Given the description of an element on the screen output the (x, y) to click on. 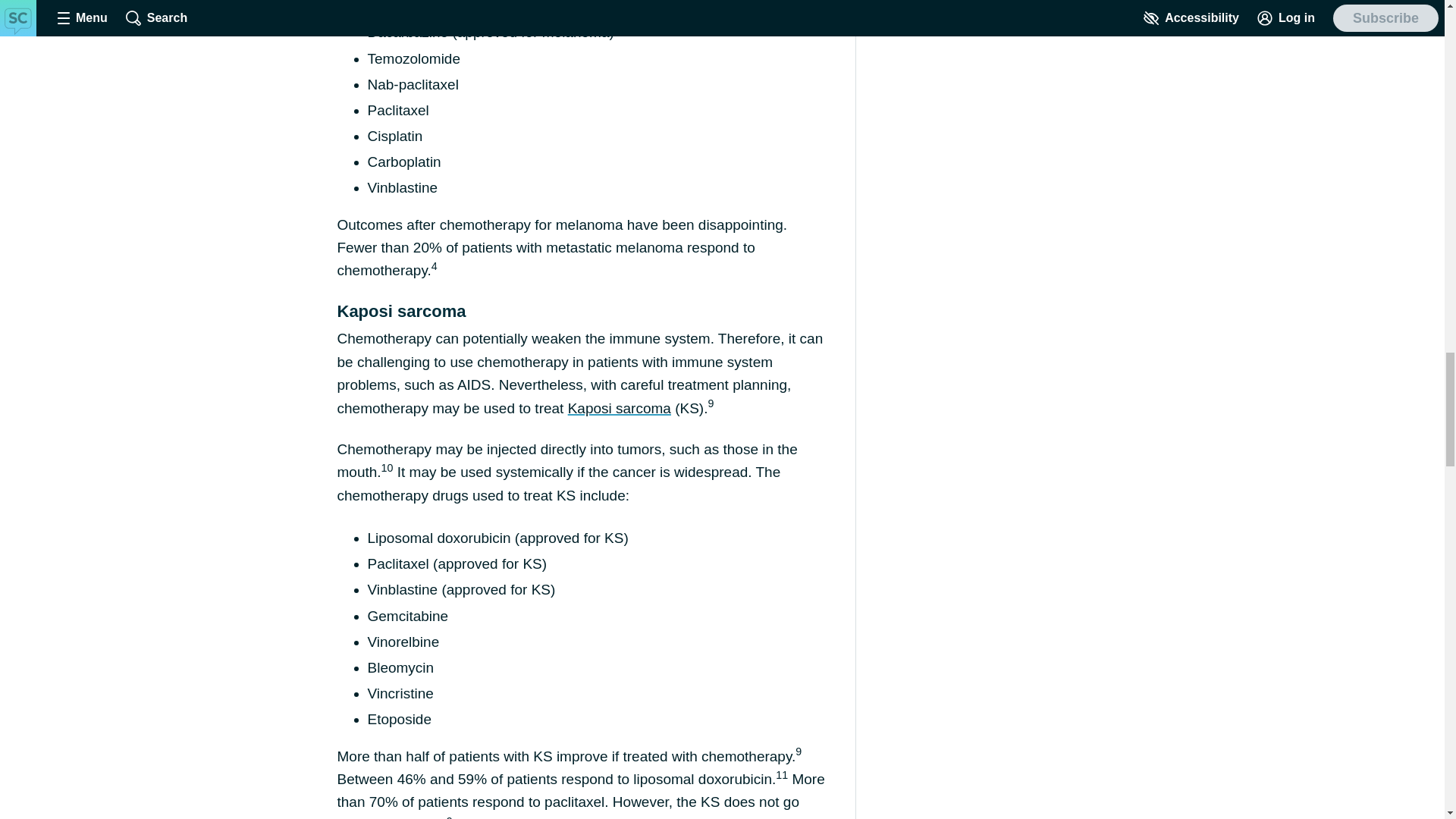
Kaposi sarcoma (619, 408)
